Given the description of an element on the screen output the (x, y) to click on. 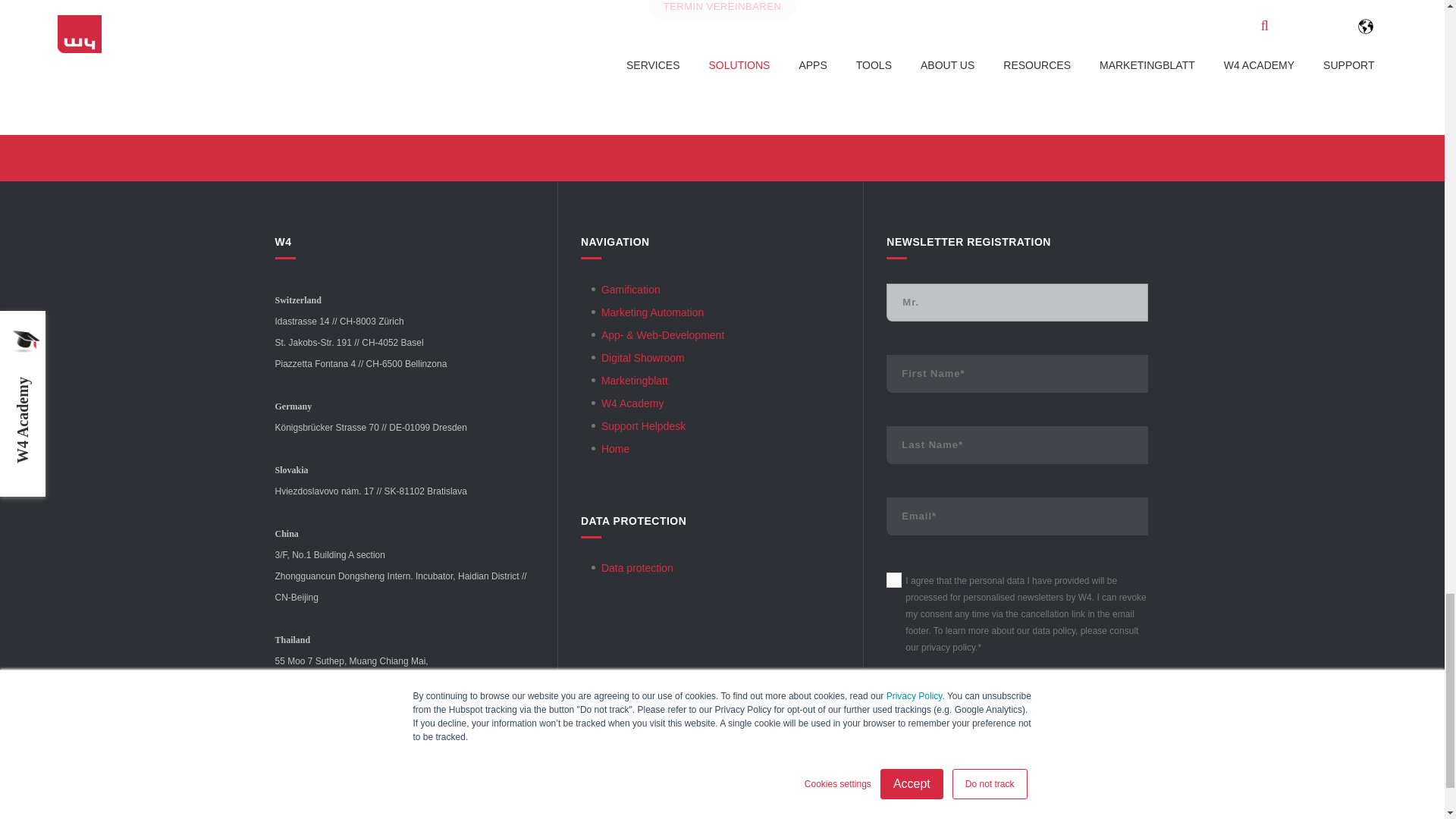
reCAPTCHA (983, 746)
Subscribe (1017, 802)
Termin vereinbaren (721, 9)
